Given the description of an element on the screen output the (x, y) to click on. 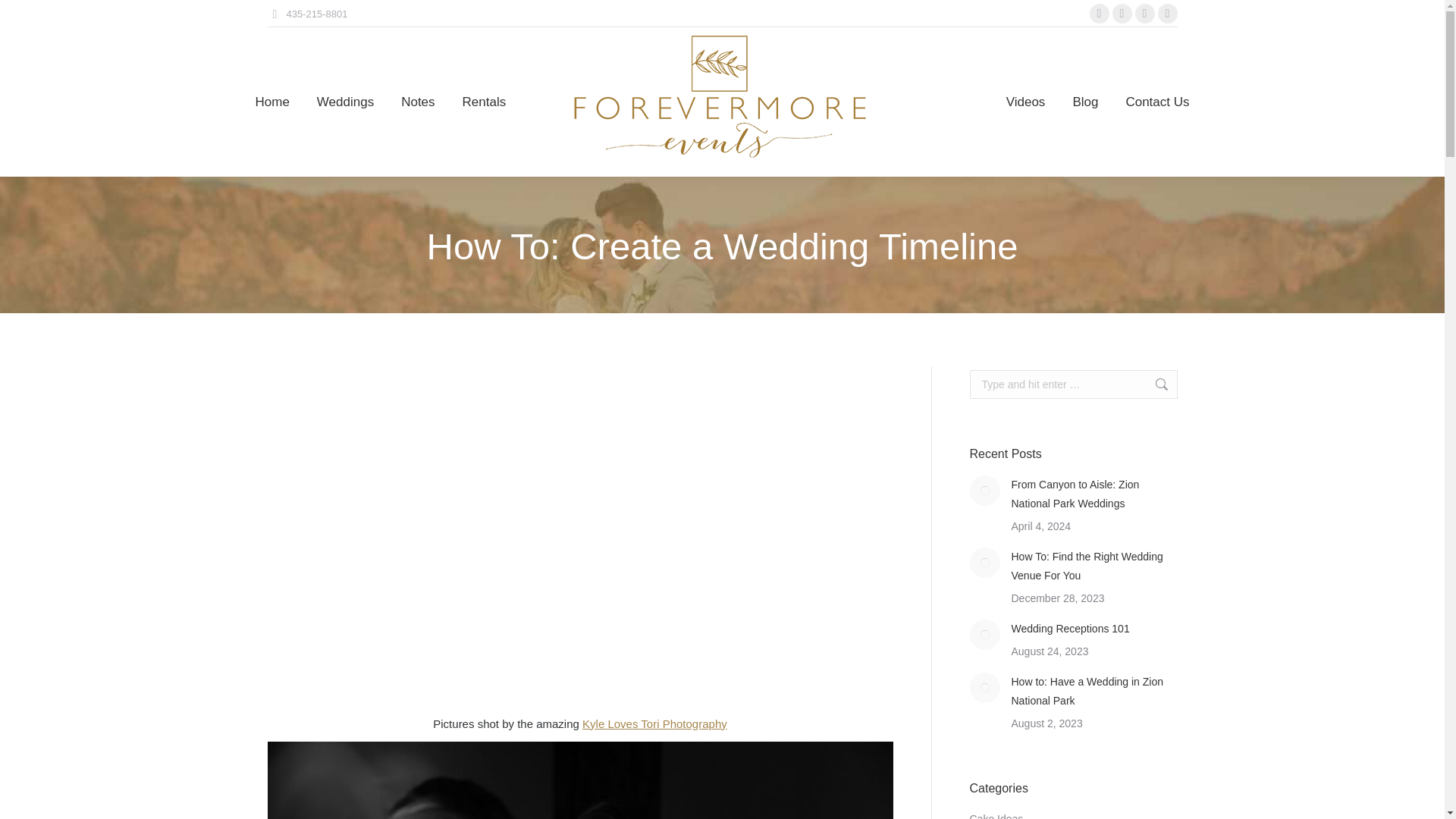
X page opens in new window (1121, 13)
Instagram page opens in new window (1144, 13)
Facebook page opens in new window (1098, 13)
How To: Find the Right Wedding Venue For You (1094, 566)
Wedding Receptions 101 (1070, 628)
Go! (1153, 384)
Pinterest page opens in new window (1166, 13)
X page opens in new window (1121, 13)
Instagram page opens in new window (1144, 13)
Kyle Loves Tori Photography (654, 723)
